Given the description of an element on the screen output the (x, y) to click on. 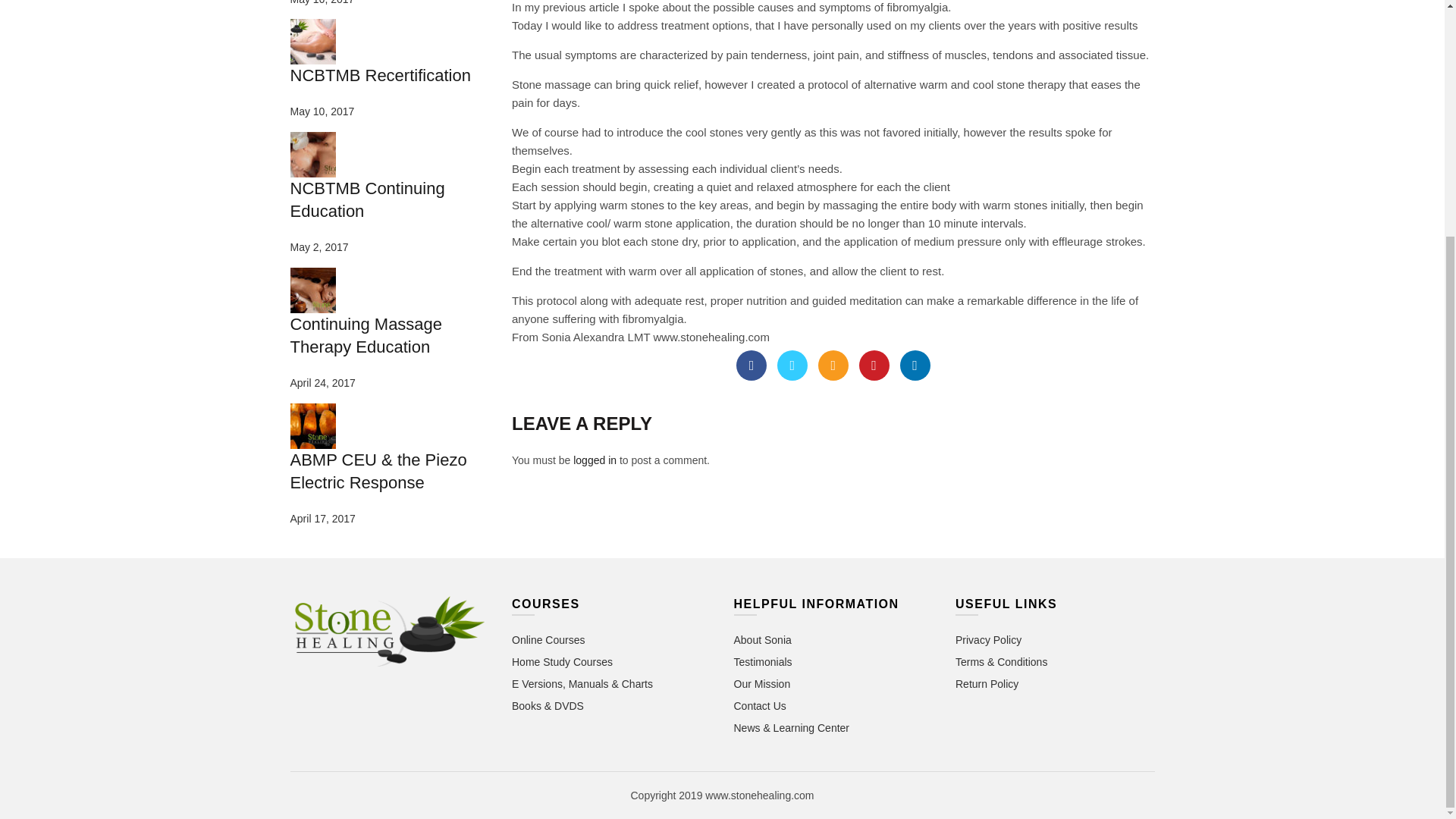
Stone Healing (389, 630)
